Given the description of an element on the screen output the (x, y) to click on. 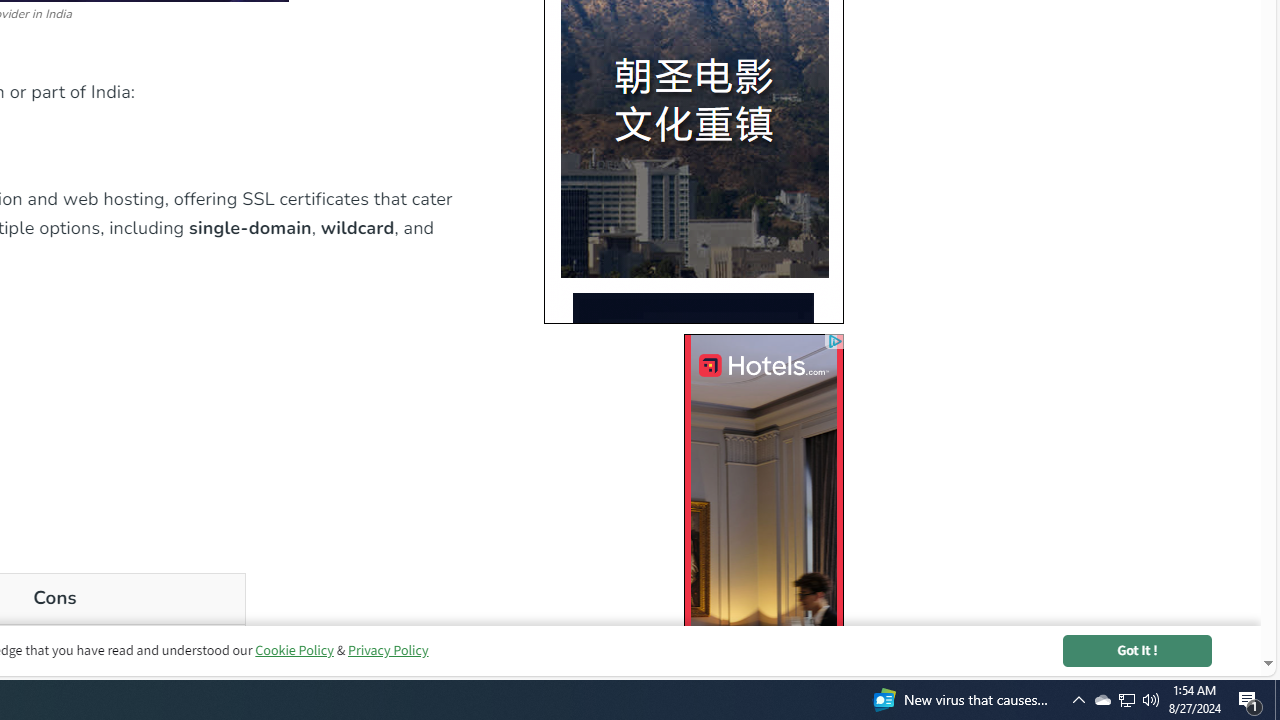
Cookie Policy (294, 650)
AutomationID: bg5 (693, 504)
Privacy Policy (387, 650)
Got It ! (1137, 650)
